Given the description of an element on the screen output the (x, y) to click on. 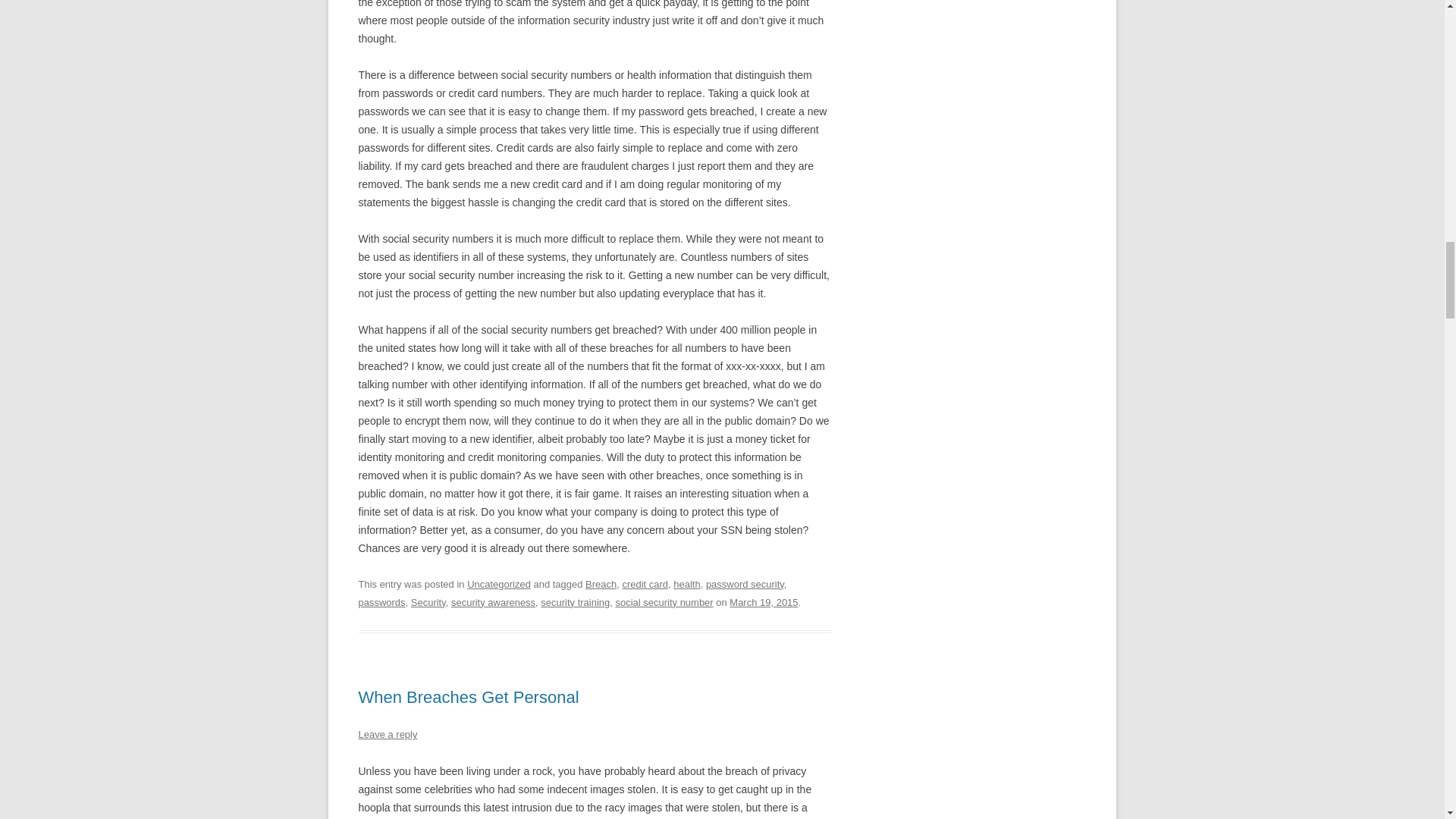
6:28 pm (763, 602)
